Given the description of an element on the screen output the (x, y) to click on. 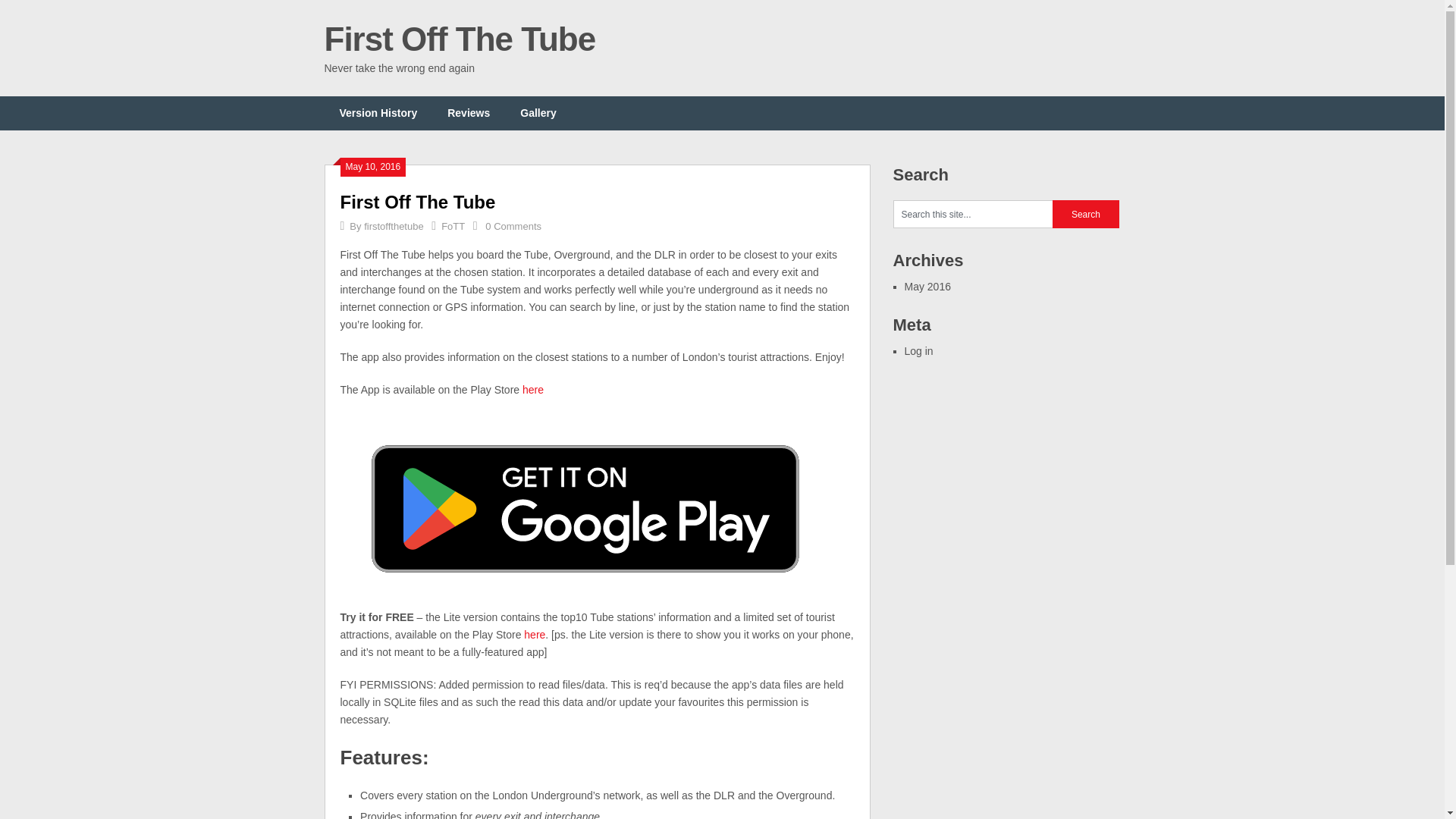
firstoffthetube (393, 225)
Version History (378, 113)
Posts by firstoffthetube (393, 225)
May 2016 (927, 286)
Search this site... (972, 213)
Search (1085, 213)
Reviews (468, 113)
First Off The Tube (417, 201)
FoTT (452, 225)
here (532, 389)
Gallery (537, 113)
First Off The Tube (417, 201)
First Off The Tube (459, 38)
here (534, 634)
0 Comments (512, 225)
